Given the description of an element on the screen output the (x, y) to click on. 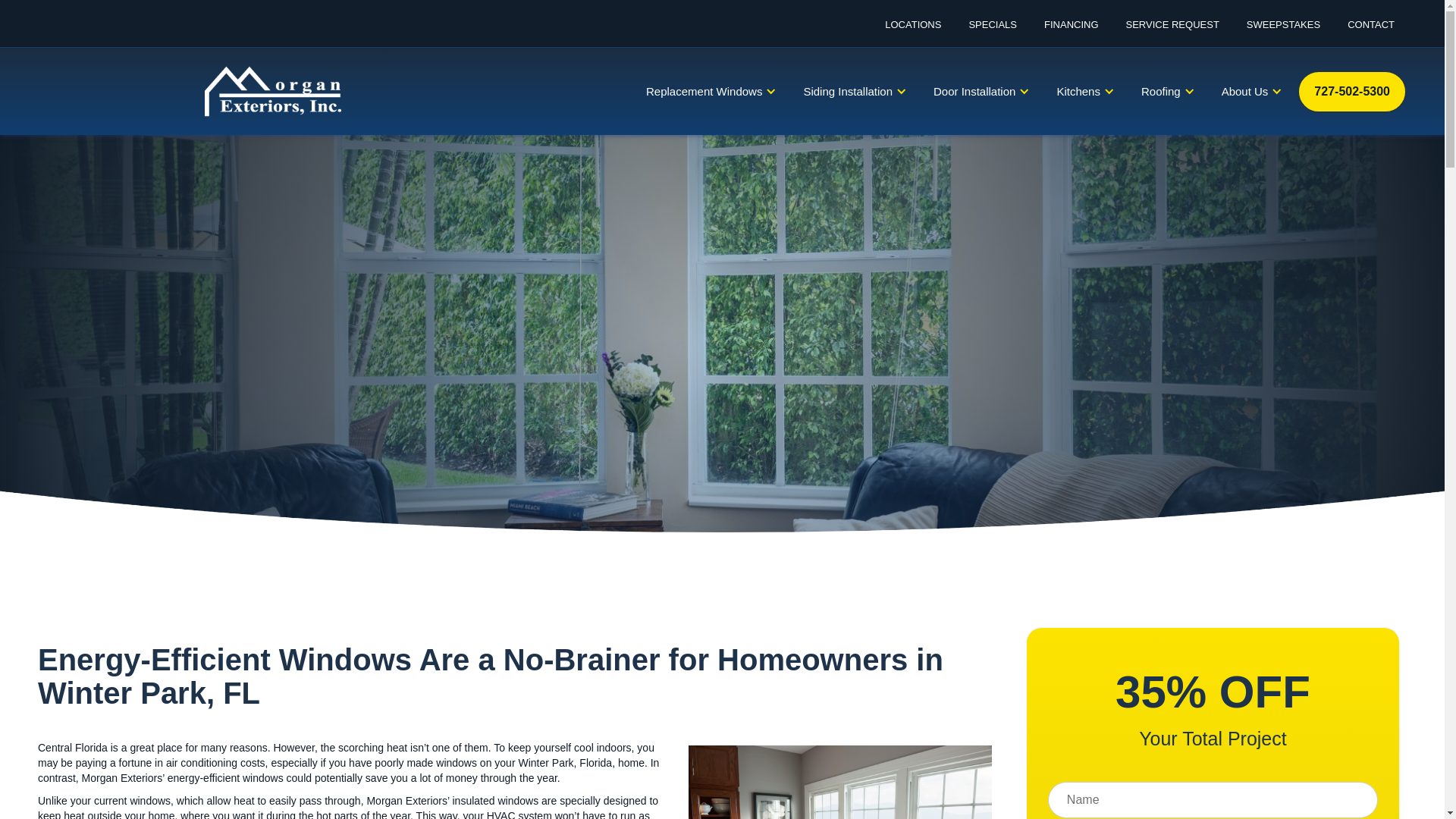
Replacement Windows (705, 90)
Siding Installation (849, 90)
SWEEPSTAKES (1281, 33)
FINANCING (1069, 33)
SERVICE REQUEST (1170, 33)
Door Installation (975, 90)
SPECIALS (991, 33)
Energy-Efficient Windows Winter Park FL (839, 782)
About Us (1247, 90)
Request Quote (1193, 53)
LOCATIONS (911, 33)
CONTACT (1369, 33)
Yes, I agree. (235, 62)
727-502-5300 (1351, 90)
